Given the description of an element on the screen output the (x, y) to click on. 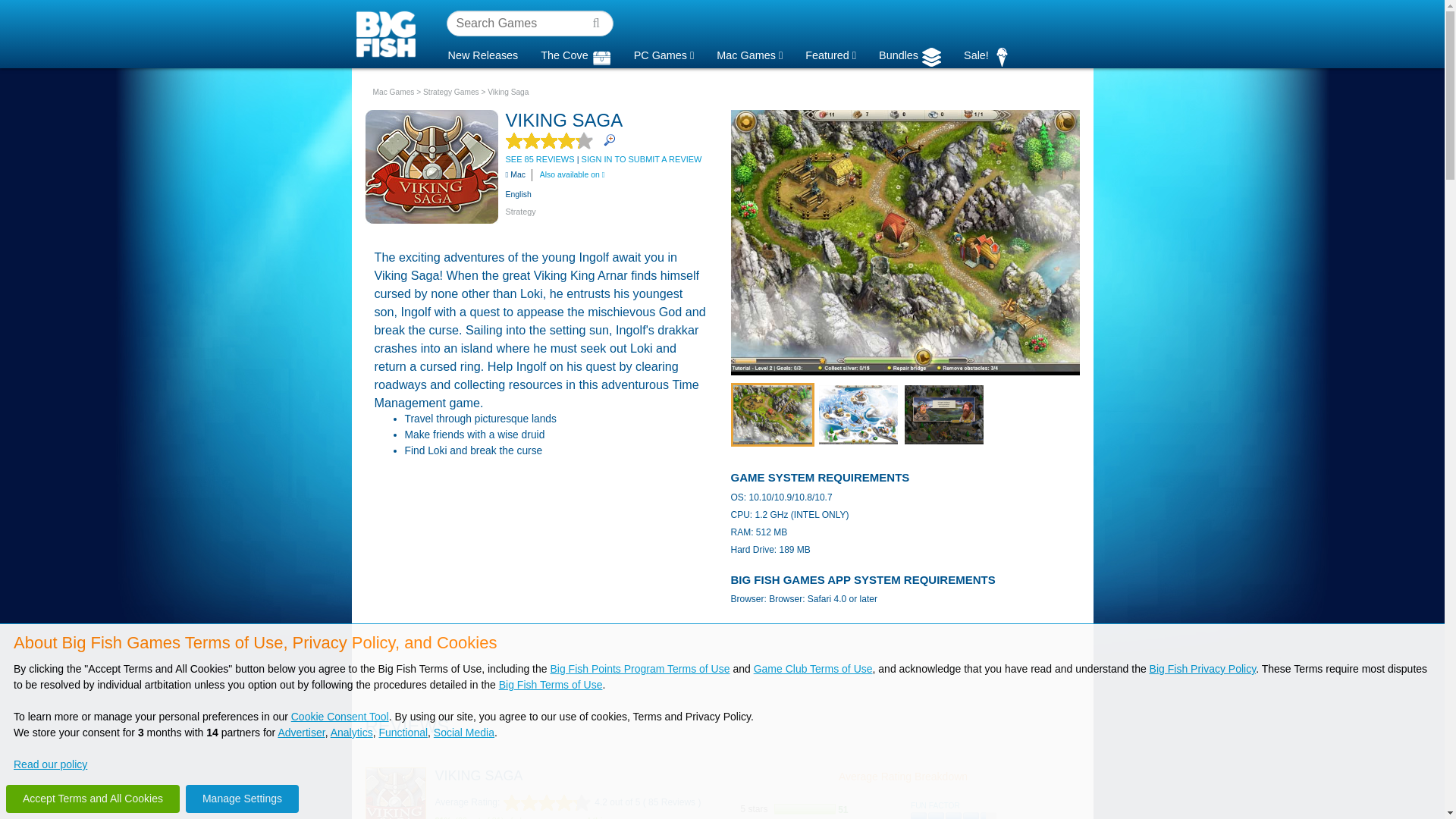
Good (954, 815)
Liked it! (547, 802)
New Releases (482, 53)
The Cove (575, 53)
Mac Games (748, 53)
Liked it! (548, 140)
Viking Saga (395, 793)
Big Fish Games (389, 33)
PC Games (664, 53)
